Given the description of an element on the screen output the (x, y) to click on. 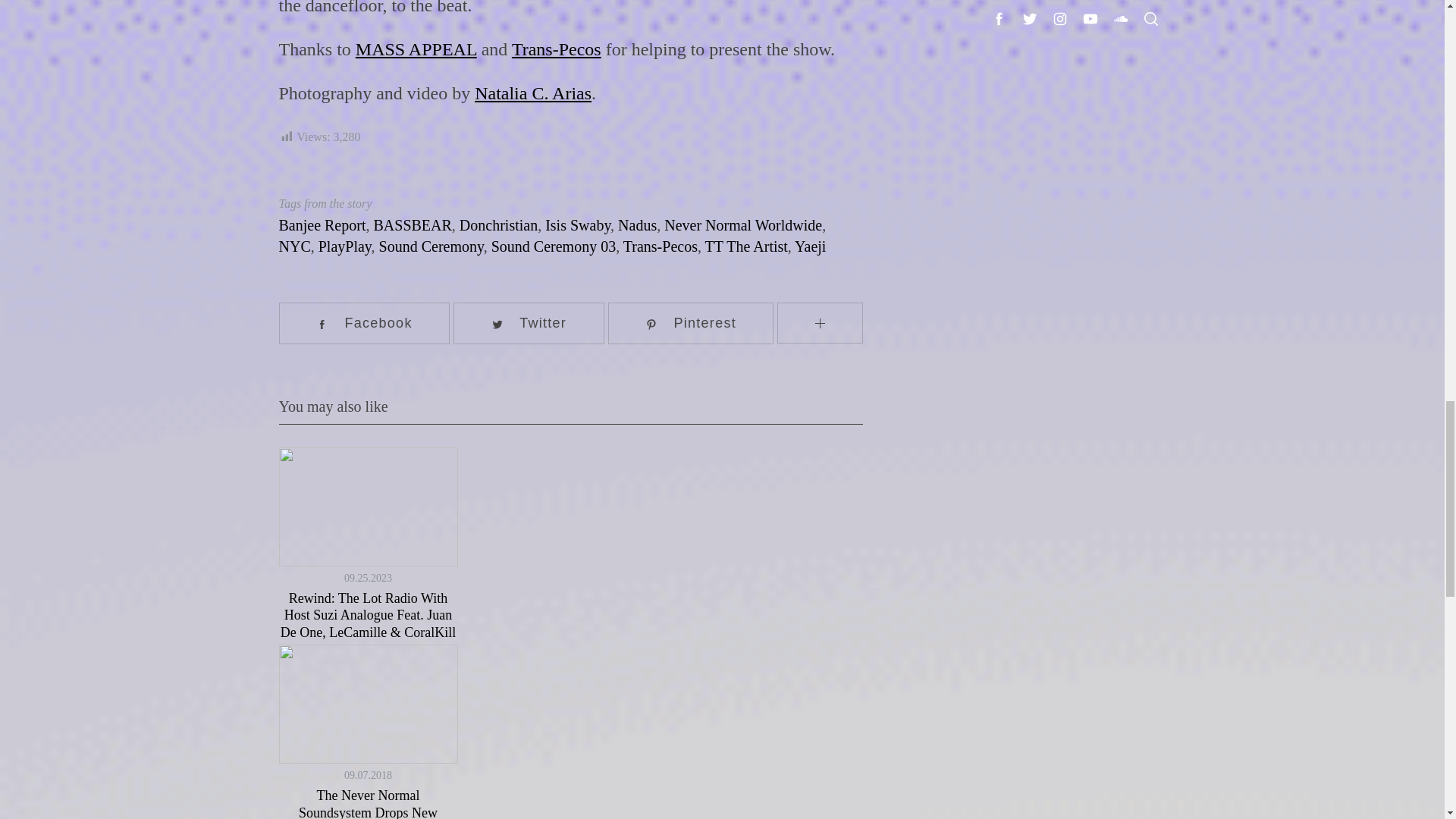
MASS APPEAL (416, 48)
Natalia C. Arias (532, 93)
Banjee Report (322, 225)
Trans-Pecos (556, 48)
